Given the description of an element on the screen output the (x, y) to click on. 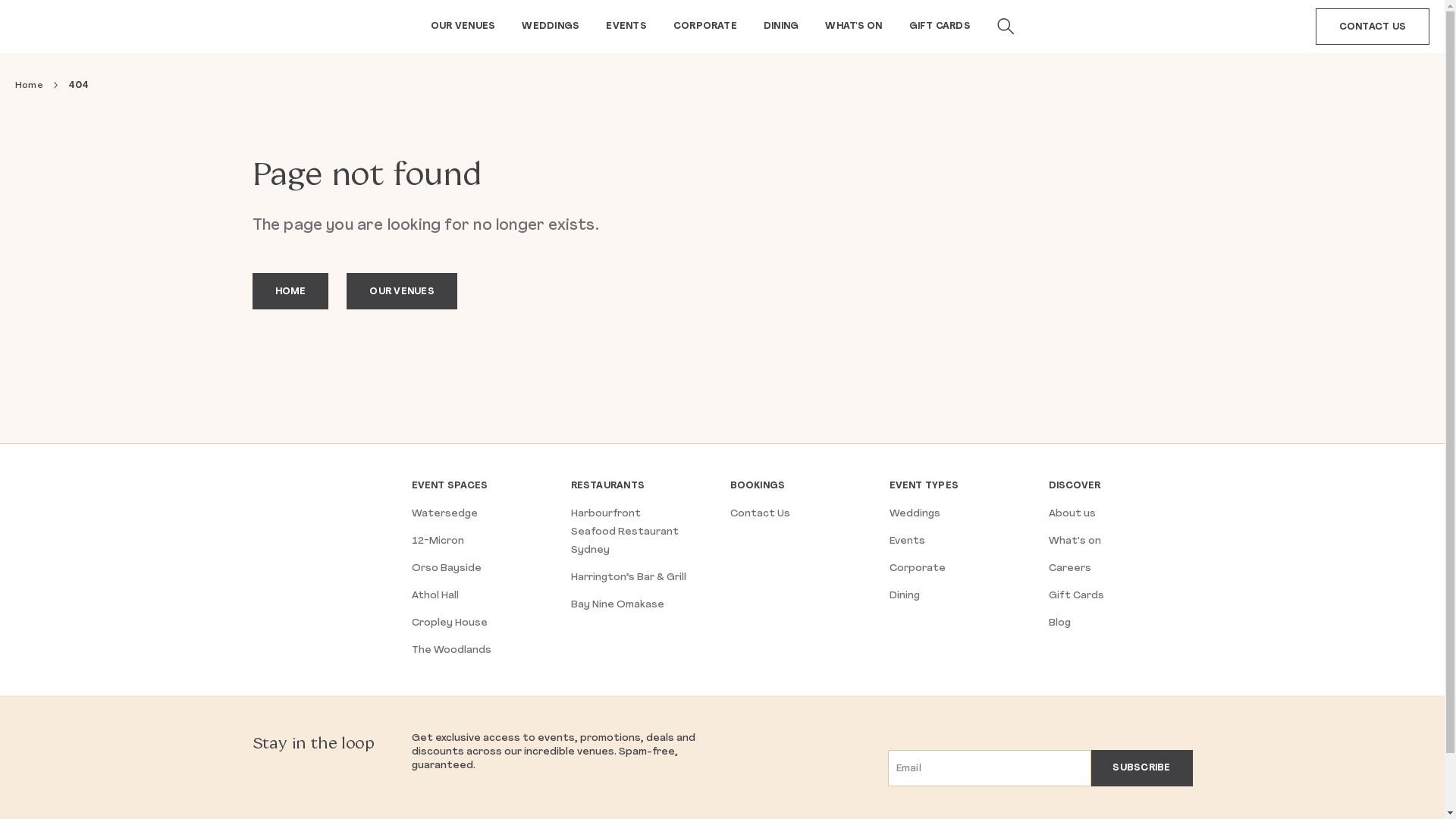
Blog Element type: text (1059, 623)
DINING Element type: text (780, 25)
Cropley House Element type: text (448, 623)
Gift Cards Element type: text (1075, 595)
Contact Us Element type: text (759, 513)
EVENTS Element type: text (625, 25)
Events Element type: text (906, 541)
Dining Element type: text (903, 595)
About us Element type: text (1071, 513)
WHAT'S ON Element type: text (853, 25)
HOME Element type: text (289, 291)
OUR VENUES Element type: text (401, 291)
Orso Bayside Element type: text (445, 568)
Watersedge Element type: text (443, 513)
Bay Nine Omakase Element type: text (616, 604)
What's on Element type: text (1074, 541)
CONTACT US Element type: text (1372, 26)
Careers Element type: text (1069, 568)
Weddings Element type: text (913, 513)
GIFT CARDS Element type: text (939, 25)
12-Micron Element type: text (437, 541)
Home Element type: text (29, 86)
Athol Hall Element type: text (434, 595)
WEDDINGS Element type: text (550, 25)
Corporate Element type: text (916, 568)
CORPORATE Element type: text (705, 25)
Harbourfront Seafood Restaurant Sydney Element type: text (623, 531)
OUR VENUES Element type: text (462, 25)
SUBSCRIBE Element type: text (1141, 767)
The Woodlands Element type: text (450, 650)
